Given the description of an element on the screen output the (x, y) to click on. 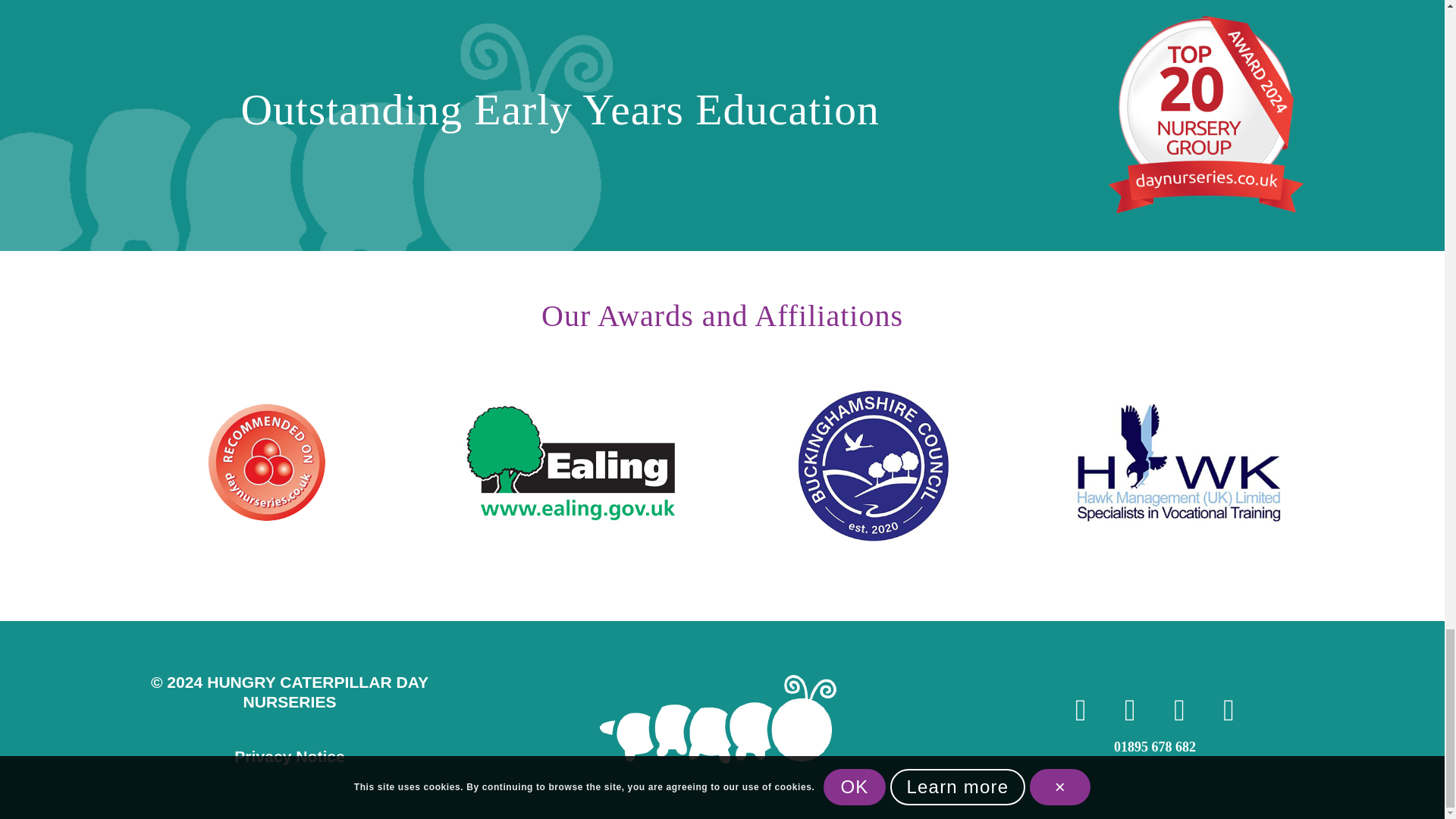
caterpillar (722, 719)
2024-Top-20-Nursery-Group-banner (1209, 113)
